Given the description of an element on the screen output the (x, y) to click on. 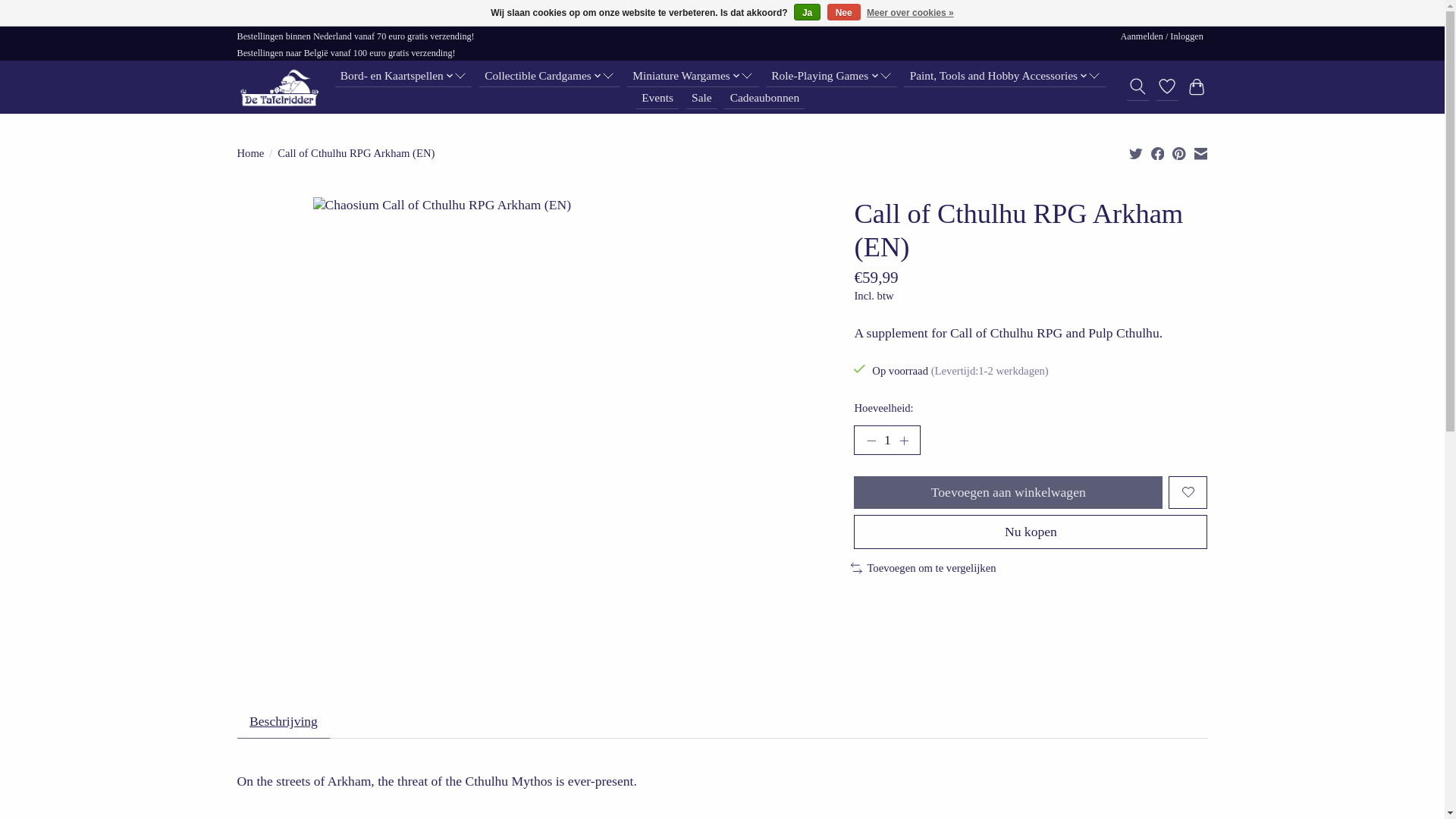
Miniature Wargames (692, 75)
De Tafelridder (277, 86)
1 (886, 440)
Collectible Cardgames (549, 75)
Bord- en Kaartspellen (402, 75)
Mijn account (1162, 36)
